Given the description of an element on the screen output the (x, y) to click on. 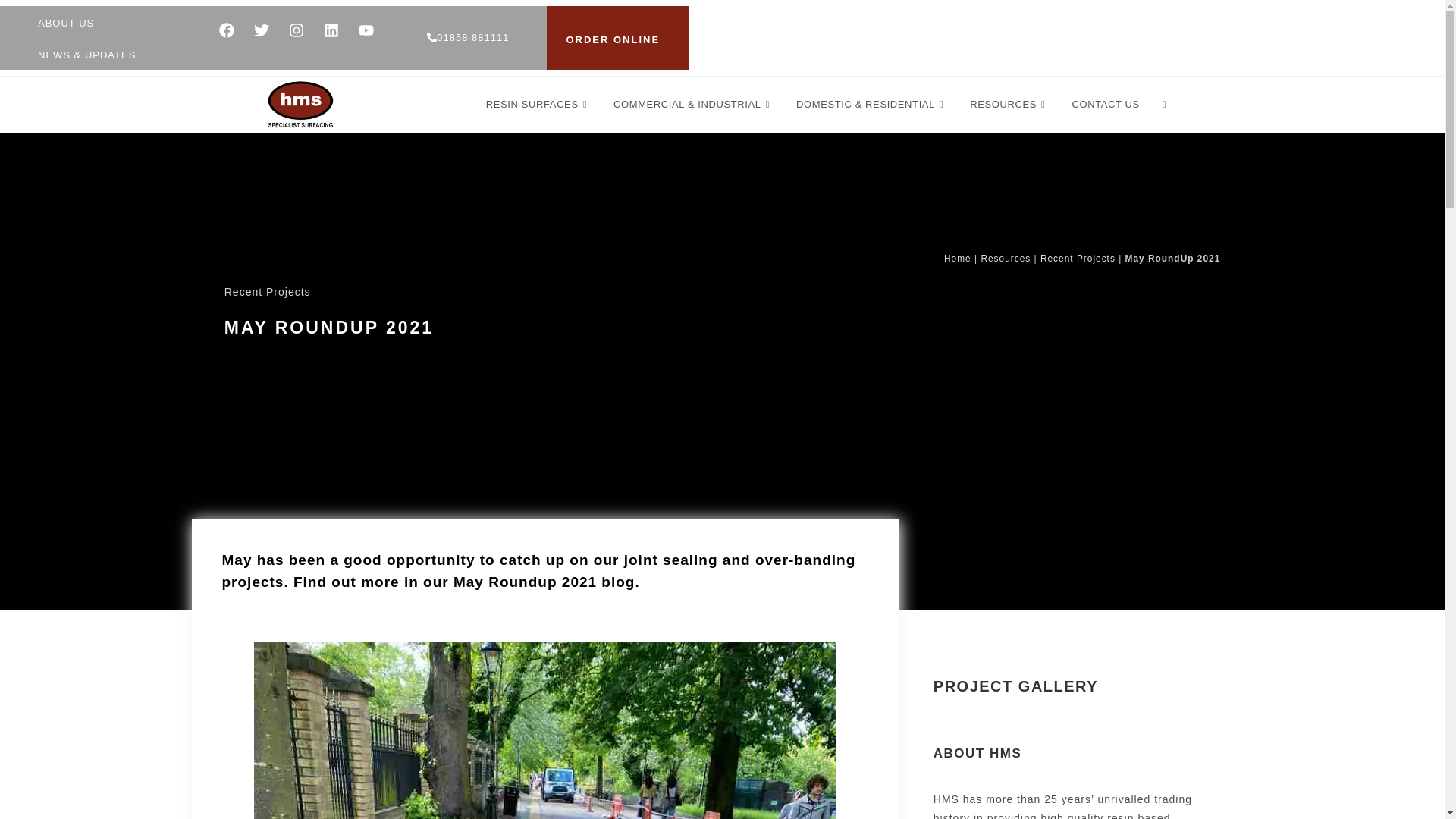
01858 881111 (467, 38)
RESIN SURFACES (538, 104)
ABOUT US (65, 22)
ORDER ONLINE (612, 40)
